Given the description of an element on the screen output the (x, y) to click on. 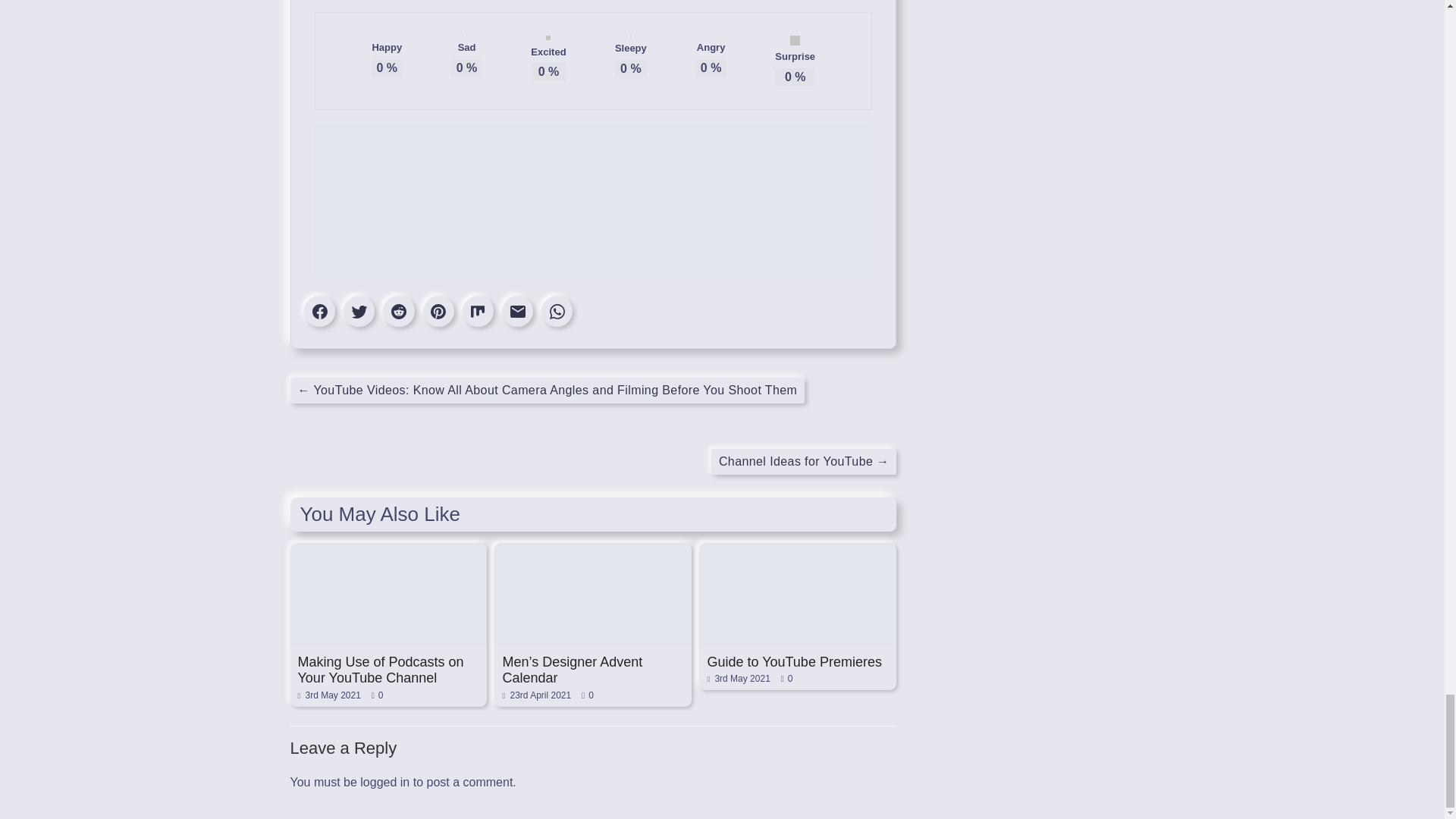
2:14 pm (328, 695)
Making Use of Podcasts on Your YouTube Channel (387, 550)
Making Use of Podcasts on Your YouTube Channel (380, 670)
